Given the description of an element on the screen output the (x, y) to click on. 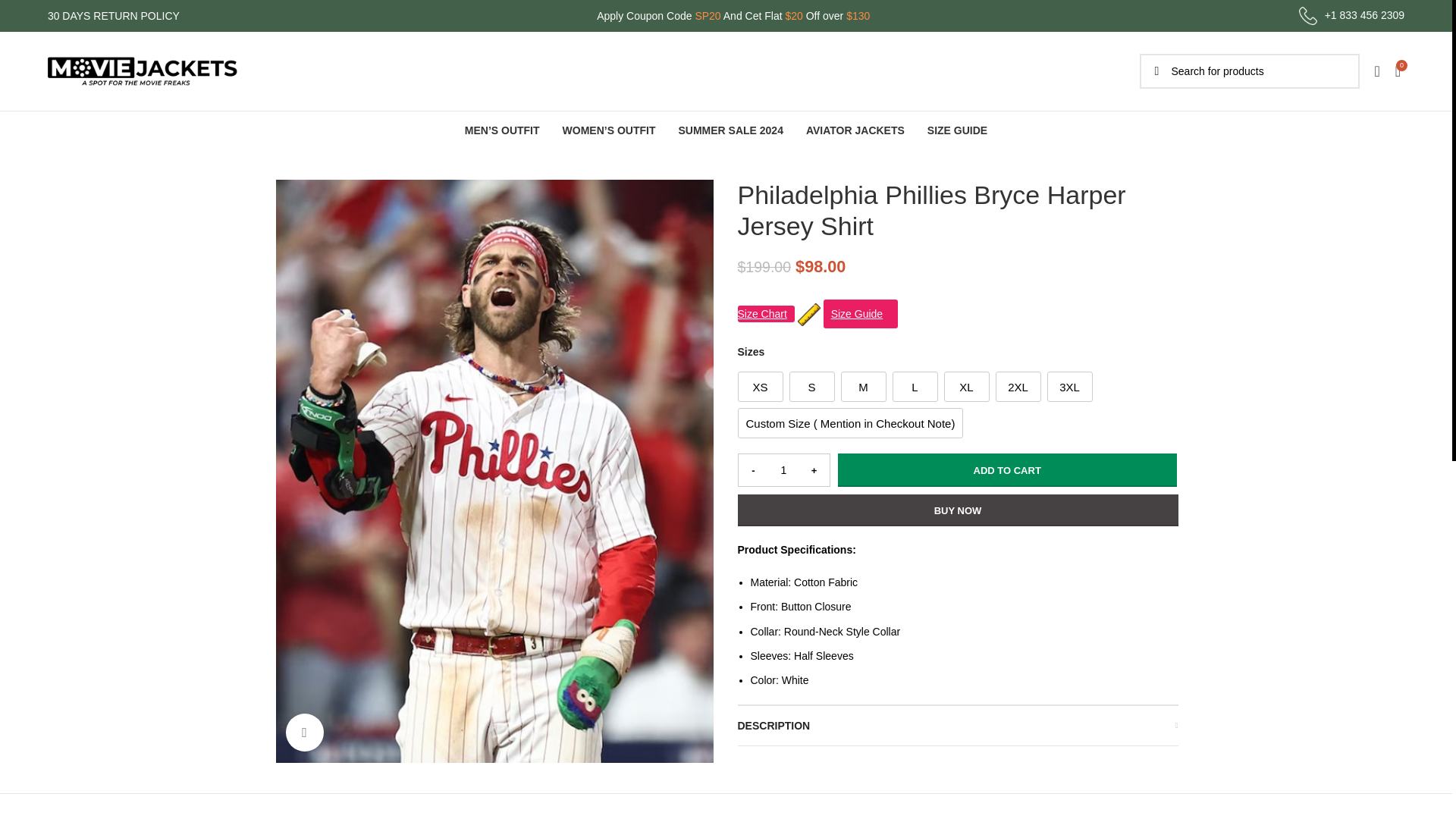
Return and Exchange Policy (342, 732)
Size Chart (764, 313)
SUMMER SALE 2024 (730, 130)
1 (783, 470)
Shipping and Delivery (326, 702)
Log in (1254, 312)
How to Checkout (545, 672)
SEARCH (1155, 71)
- (753, 470)
BUY NOW (956, 510)
